Given the description of an element on the screen output the (x, y) to click on. 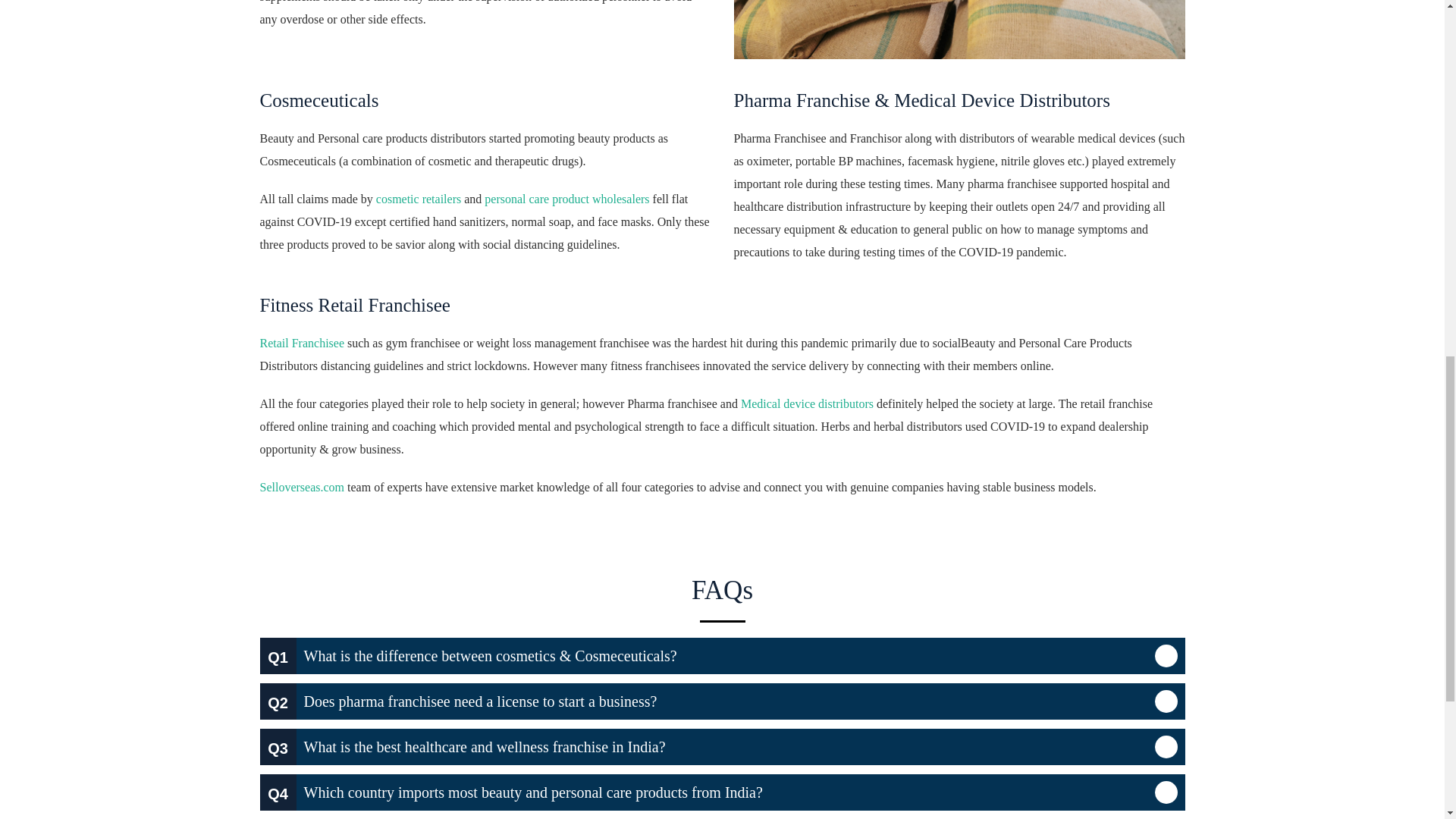
Medical device distributors (807, 403)
cosmetic retailers (418, 198)
FAQs (722, 598)
personal care product wholesalers (566, 198)
Selloverseas.com (301, 486)
Retail Franchisee (301, 342)
